Given the description of an element on the screen output the (x, y) to click on. 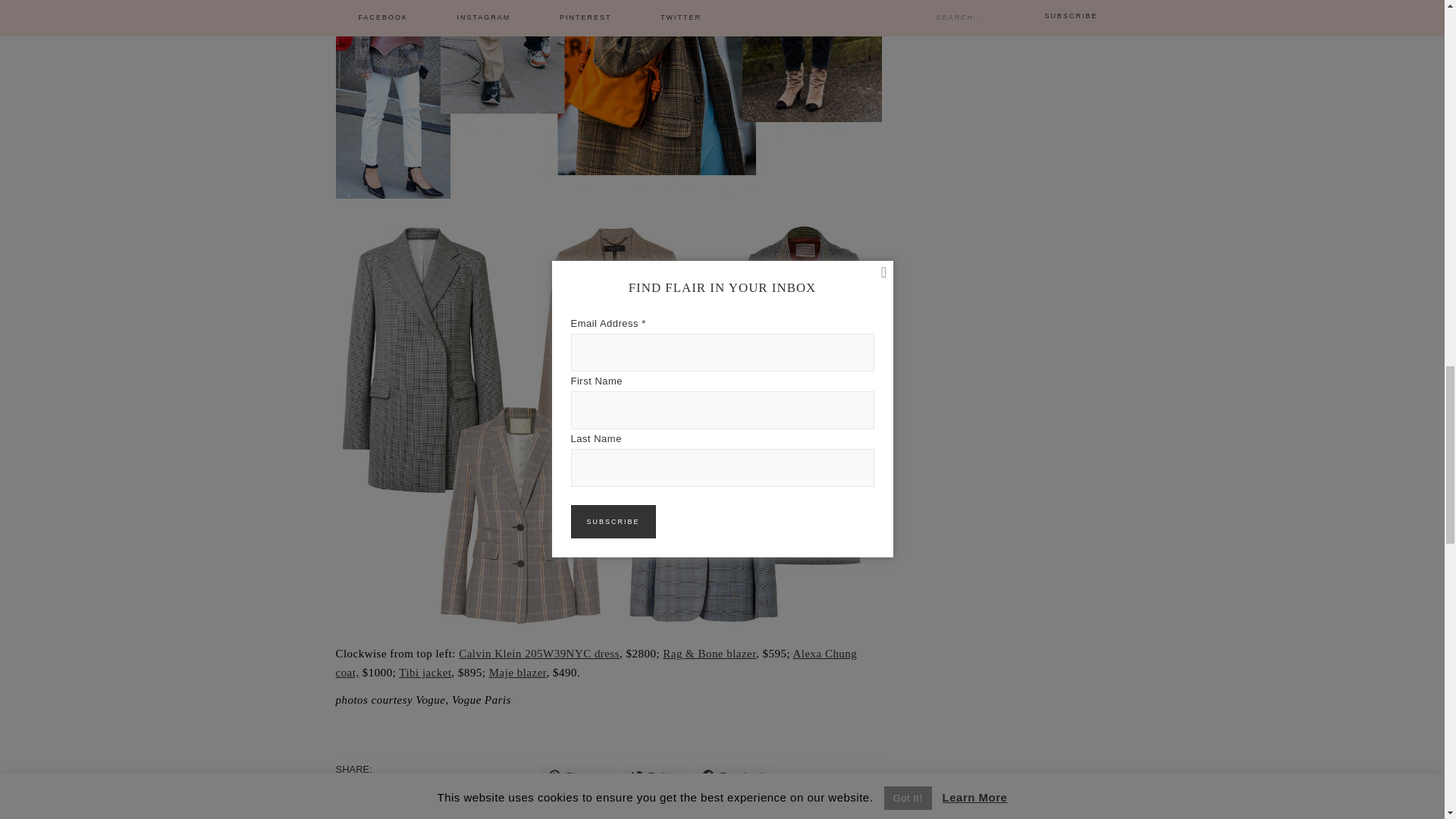
Click to share on Twitter (655, 775)
Maje blazer (518, 672)
Pinterest (577, 775)
Facebook (734, 775)
Tibi jacket (424, 672)
Twitter (655, 775)
Click to share on Facebook (734, 775)
Alexa Chung coat, (595, 662)
Calvin Klein 205W39NYC dress (539, 653)
Click to share on Pinterest (577, 775)
